Given the description of an element on the screen output the (x, y) to click on. 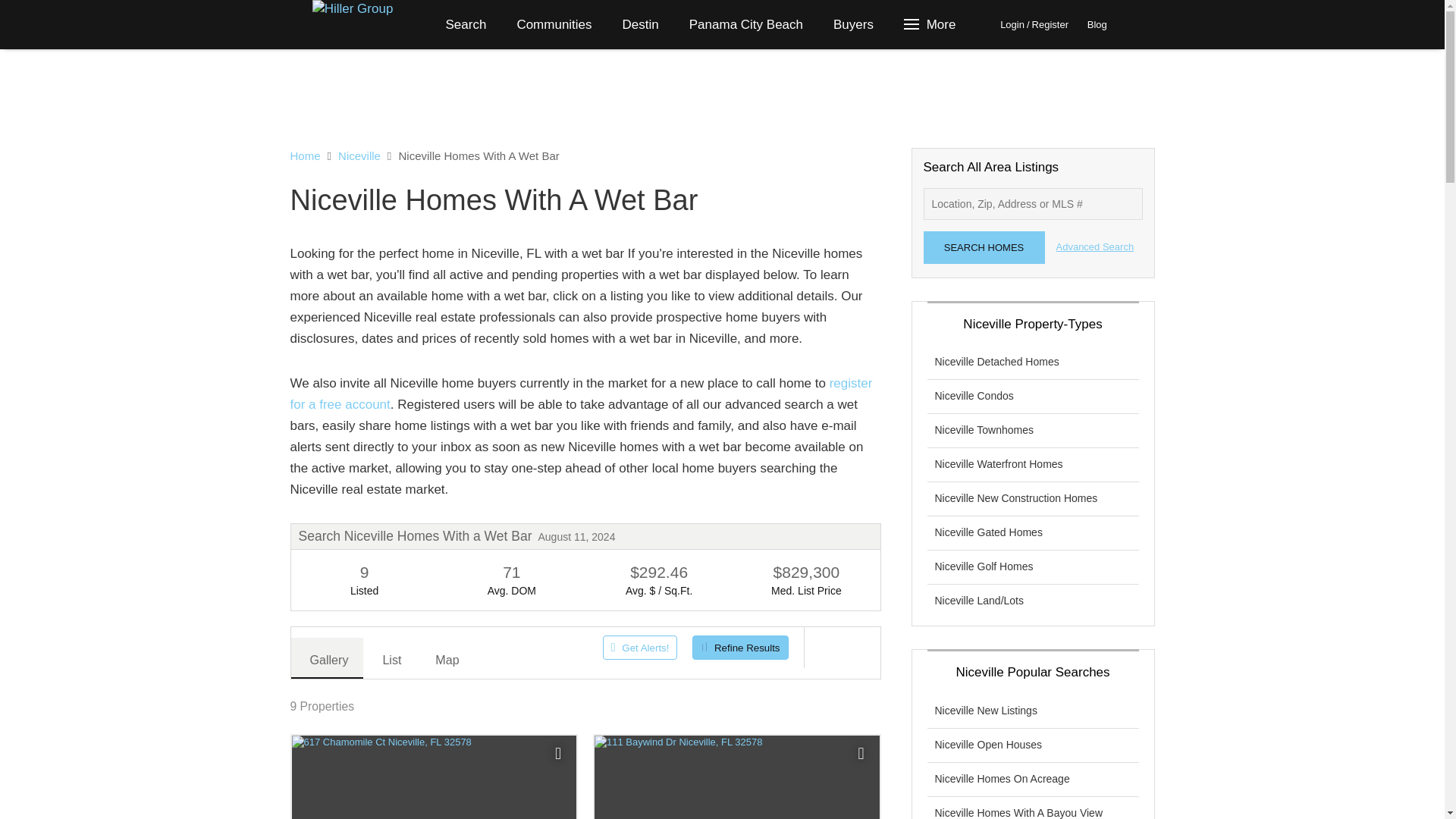
Destin (640, 24)
Search (466, 24)
Communities (553, 24)
Buyers (853, 24)
Select Language (1140, 24)
Panama City Beach (746, 24)
